Given the description of an element on the screen output the (x, y) to click on. 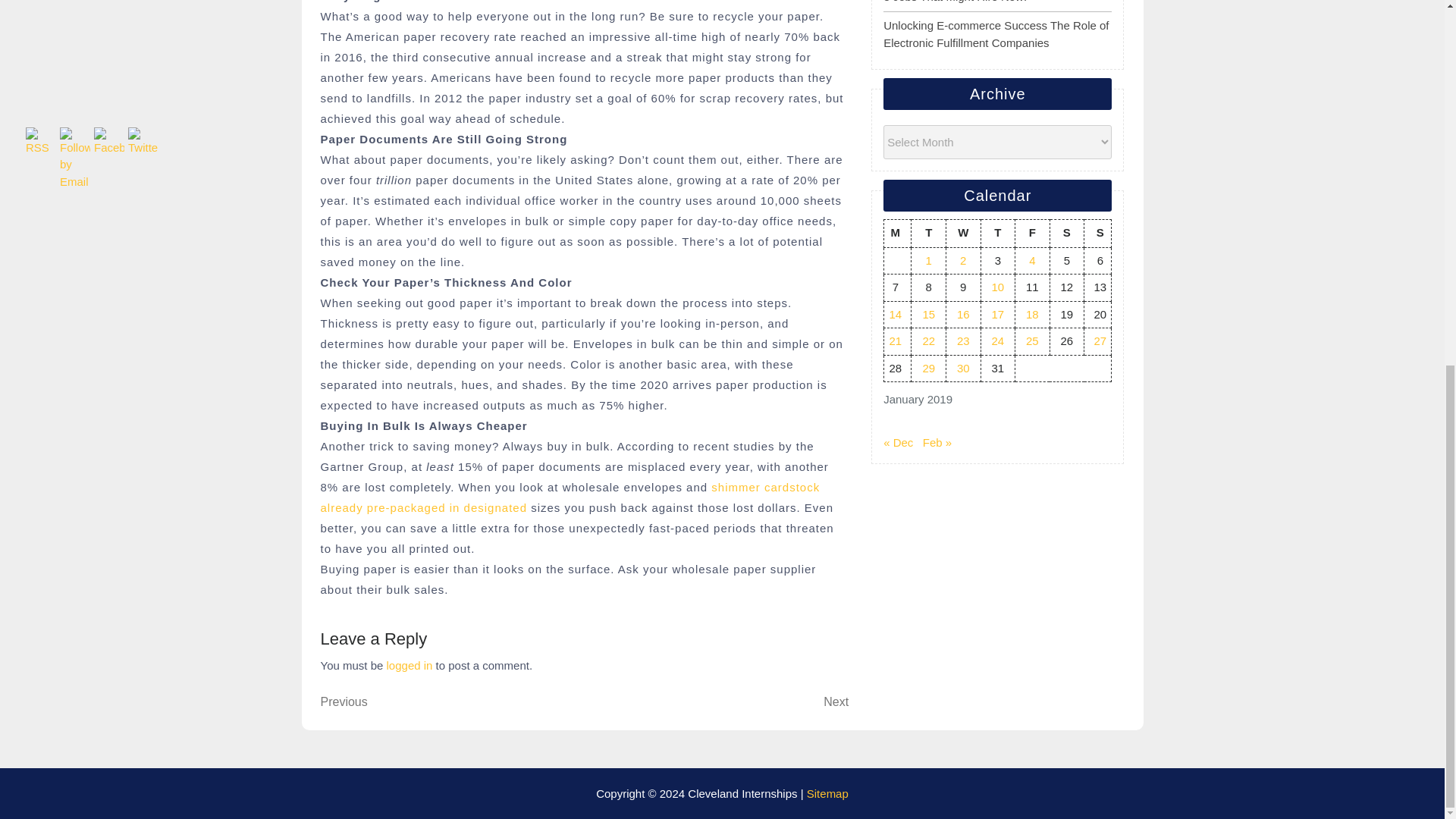
30 (962, 367)
23 (962, 340)
16 (962, 313)
15 (927, 313)
18 (1032, 313)
logged in (409, 665)
RSS (41, 141)
29 (927, 367)
shimmer cardstock already pre-packaged in designated (569, 497)
27 (1099, 340)
